Given the description of an element on the screen output the (x, y) to click on. 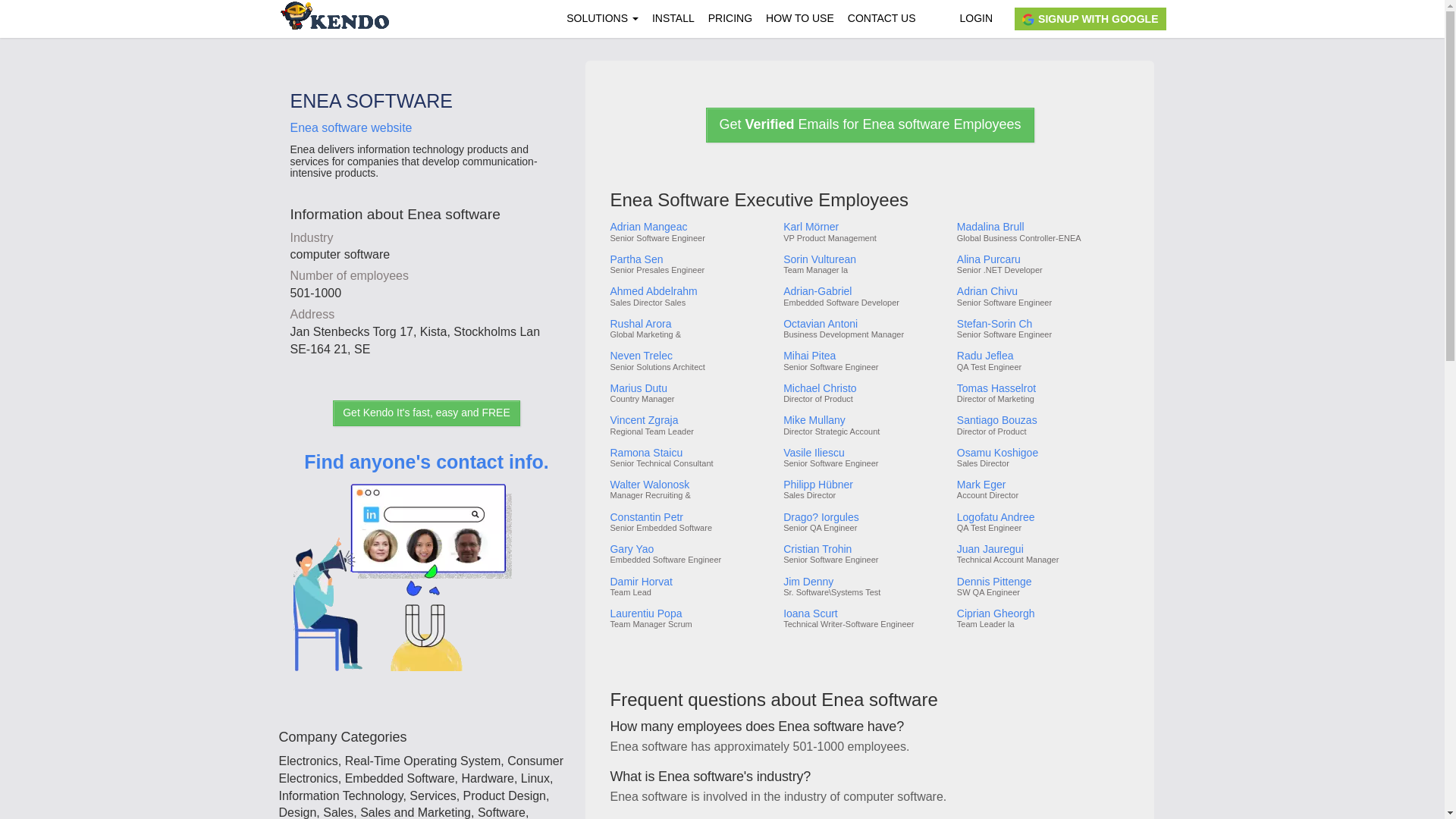
Tomas Hasselrot (1041, 388)
Get Kendo It's fast, easy and FREE (426, 412)
Stefan-Sorin Ch (1041, 324)
Octavian Antoni (863, 324)
Find anyone's contact info. (425, 582)
Get Verified Emails for Enea software Employees (869, 124)
LOGIN (975, 18)
Marius Dutu (690, 388)
SIGNUP WITH GOOGLE (1090, 18)
Enea software website (350, 127)
SOLUTIONS (602, 18)
Michael Christo (863, 388)
Partha Sen (690, 259)
Rushal Arora (690, 324)
INSTALL (673, 18)
